Given the description of an element on the screen output the (x, y) to click on. 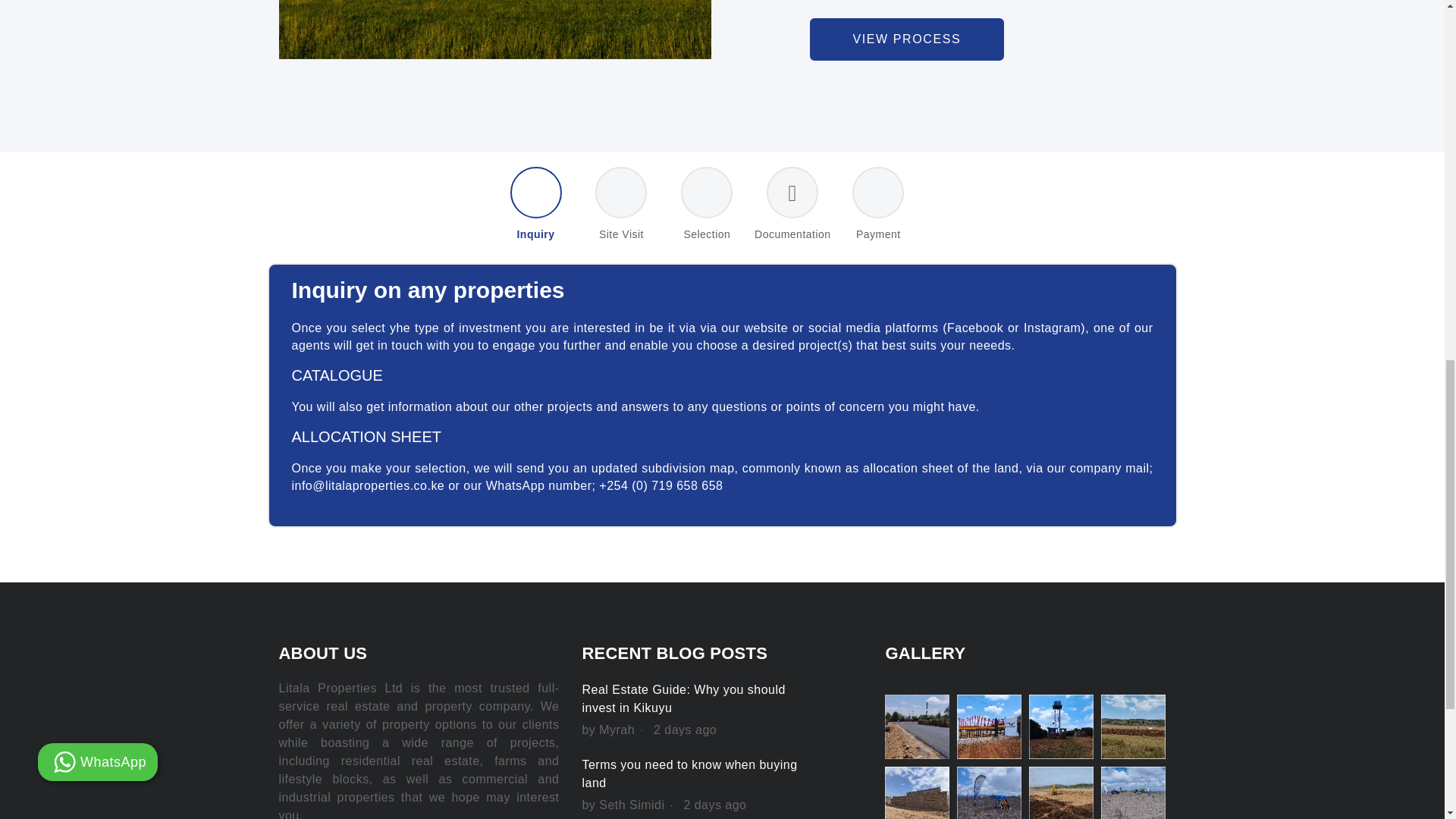
Documentation (791, 204)
Inquiry (535, 204)
Site Visit (620, 204)
Payment (877, 204)
Real Estate Guide: Why you should invest in Kikuyu (682, 698)
Selection (706, 204)
VIEW PROCESS (906, 39)
Instagram (1051, 327)
Facebook (975, 327)
Terms you need to know when buying land (688, 773)
